Given the description of an element on the screen output the (x, y) to click on. 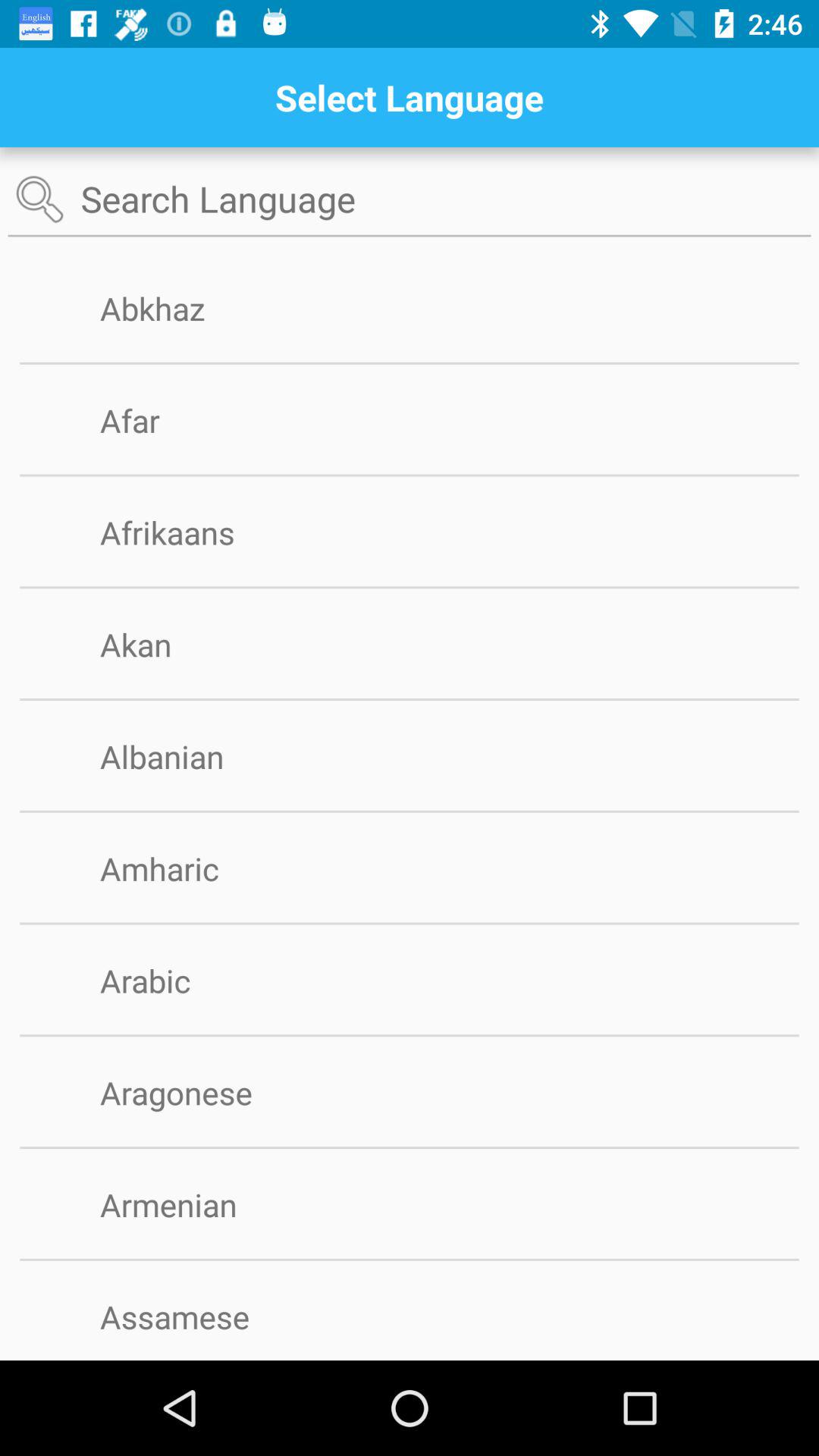
press the icon below akan item (409, 699)
